Given the description of an element on the screen output the (x, y) to click on. 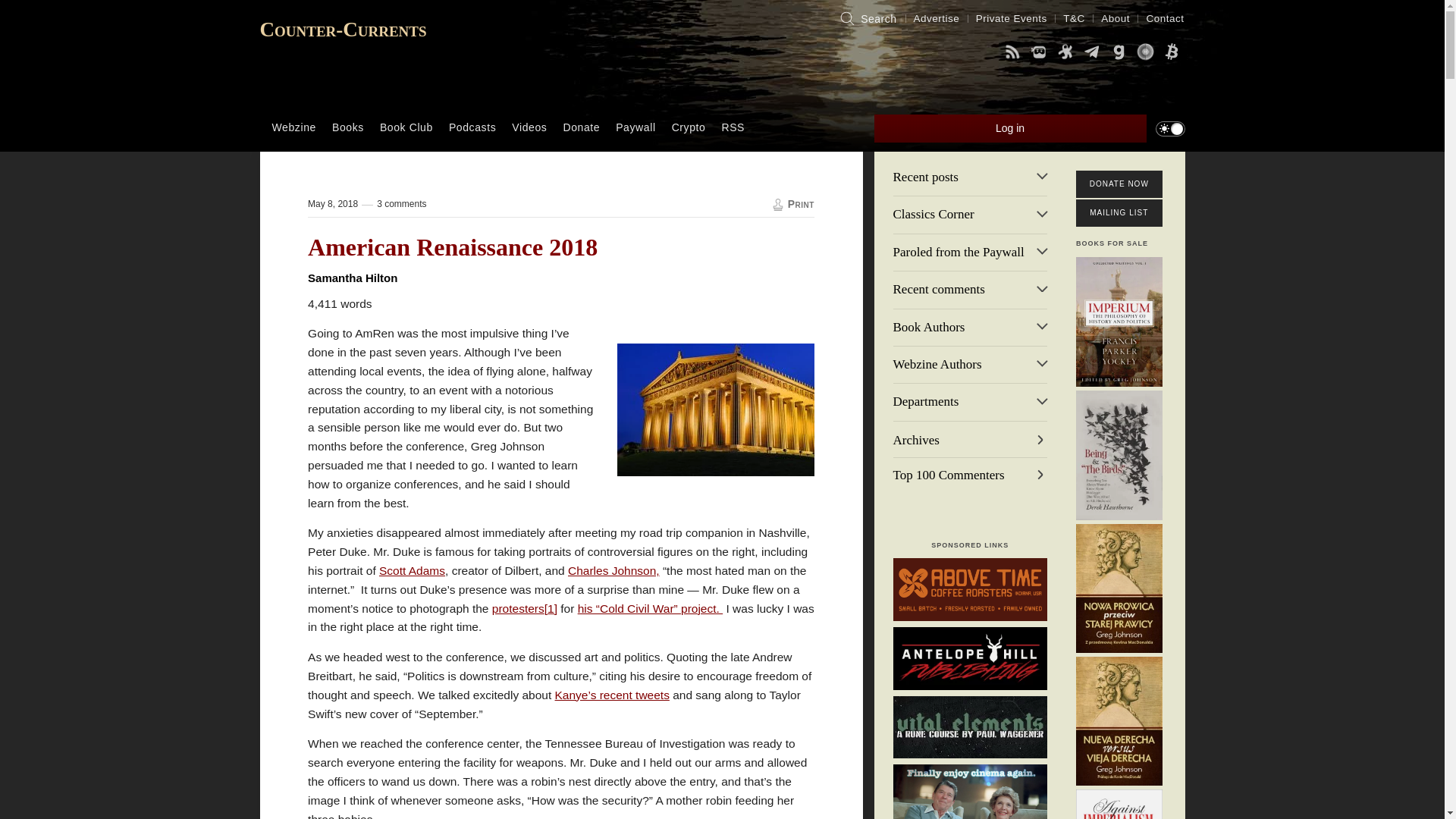
Books (347, 126)
Webzine (294, 126)
Podcasts (472, 126)
Videos (529, 126)
Search (866, 18)
Counter-Currents (342, 29)
Crypto (689, 126)
Book Club (405, 126)
Search (866, 18)
Log in (1010, 128)
Private Events (1011, 18)
Advertise (936, 18)
Paywall (635, 126)
About (1115, 18)
Donate (581, 126)
